Given the description of an element on the screen output the (x, y) to click on. 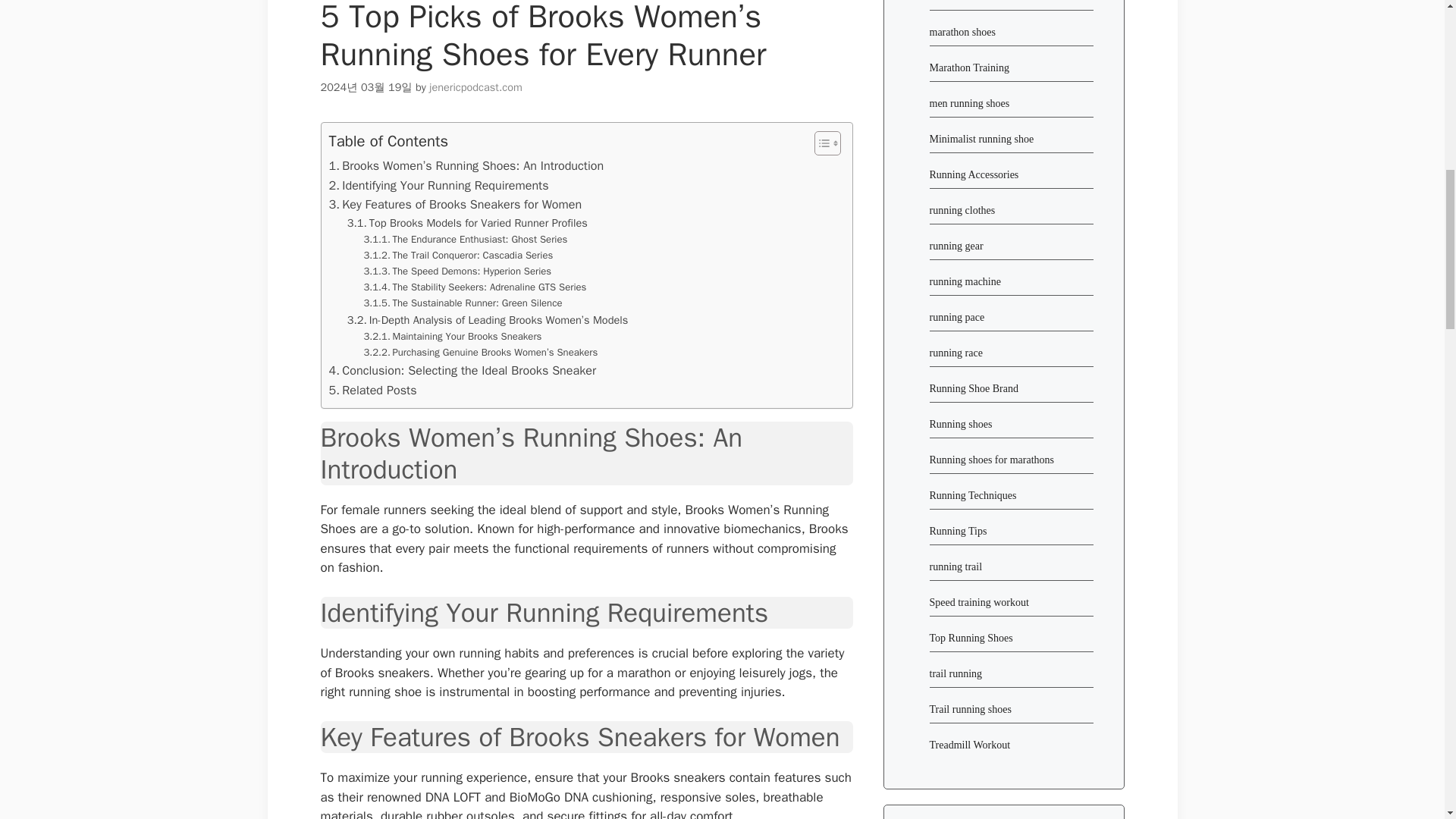
The Sustainable Runner: Green Silence (463, 303)
The Sustainable Runner: Green Silence (463, 303)
Key Features of Brooks Sneakers for Women (455, 204)
Related Posts (372, 390)
Top Brooks Models for Varied Runner Profiles (467, 222)
View all posts by jenericpodcast.com (475, 87)
The Stability Seekers: Adrenaline GTS Series (475, 287)
Identifying Your Running Requirements (438, 185)
Related Posts (372, 390)
The Endurance Enthusiast: Ghost Series (465, 239)
